Given the description of an element on the screen output the (x, y) to click on. 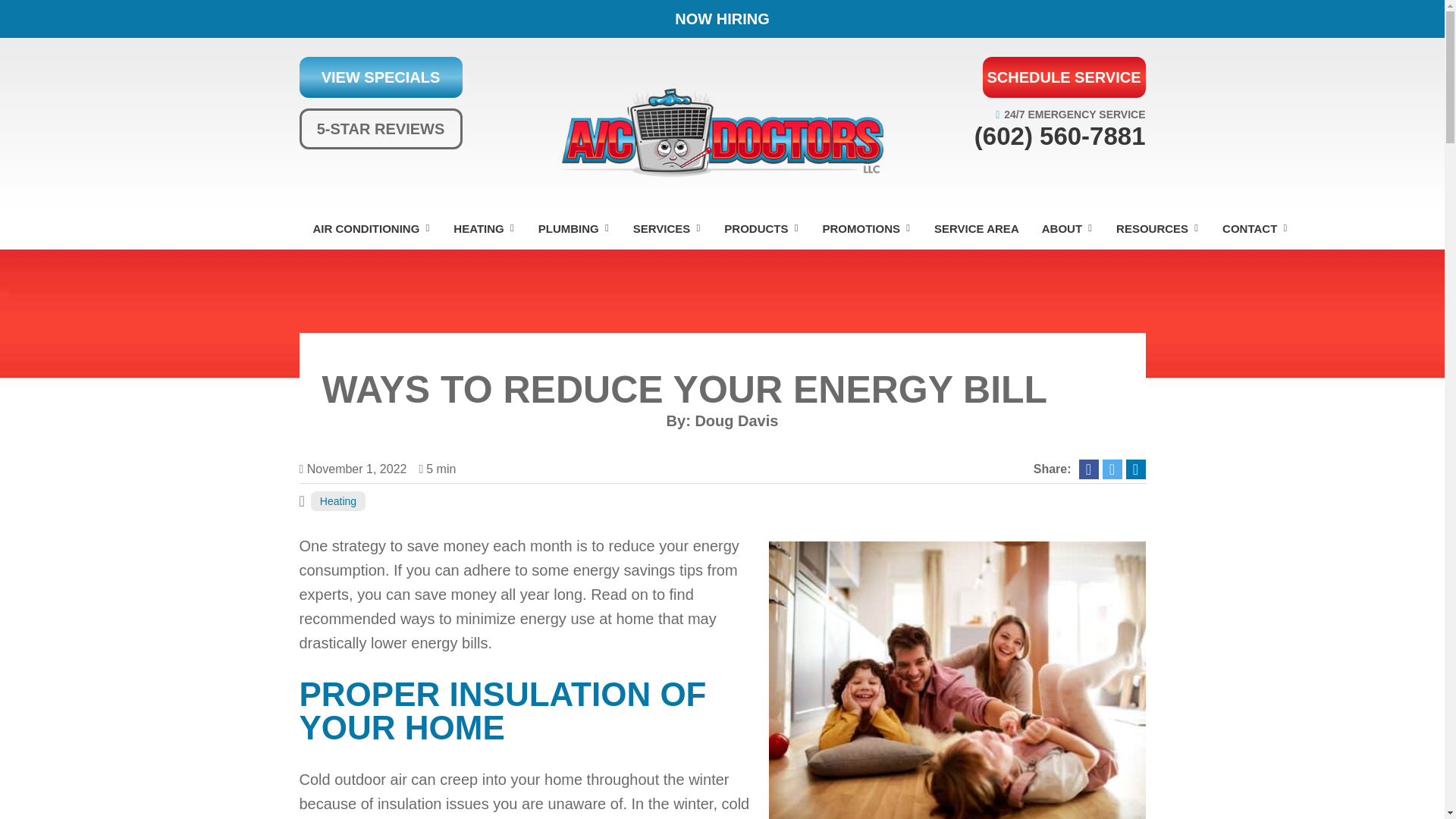
Ways To Reduce Your Energy Bill (956, 681)
